Given the description of an element on the screen output the (x, y) to click on. 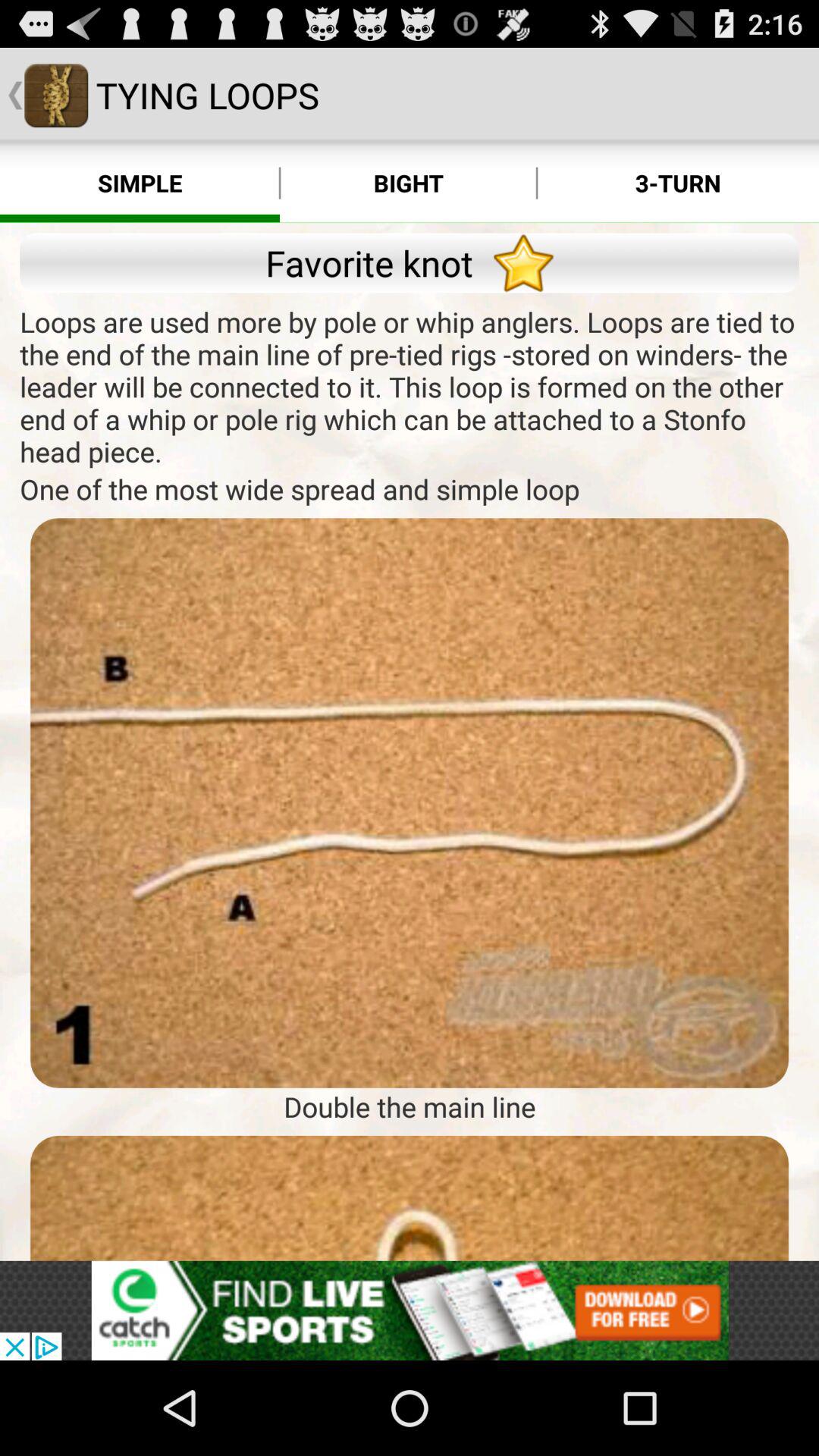
go to image (409, 1197)
